Given the description of an element on the screen output the (x, y) to click on. 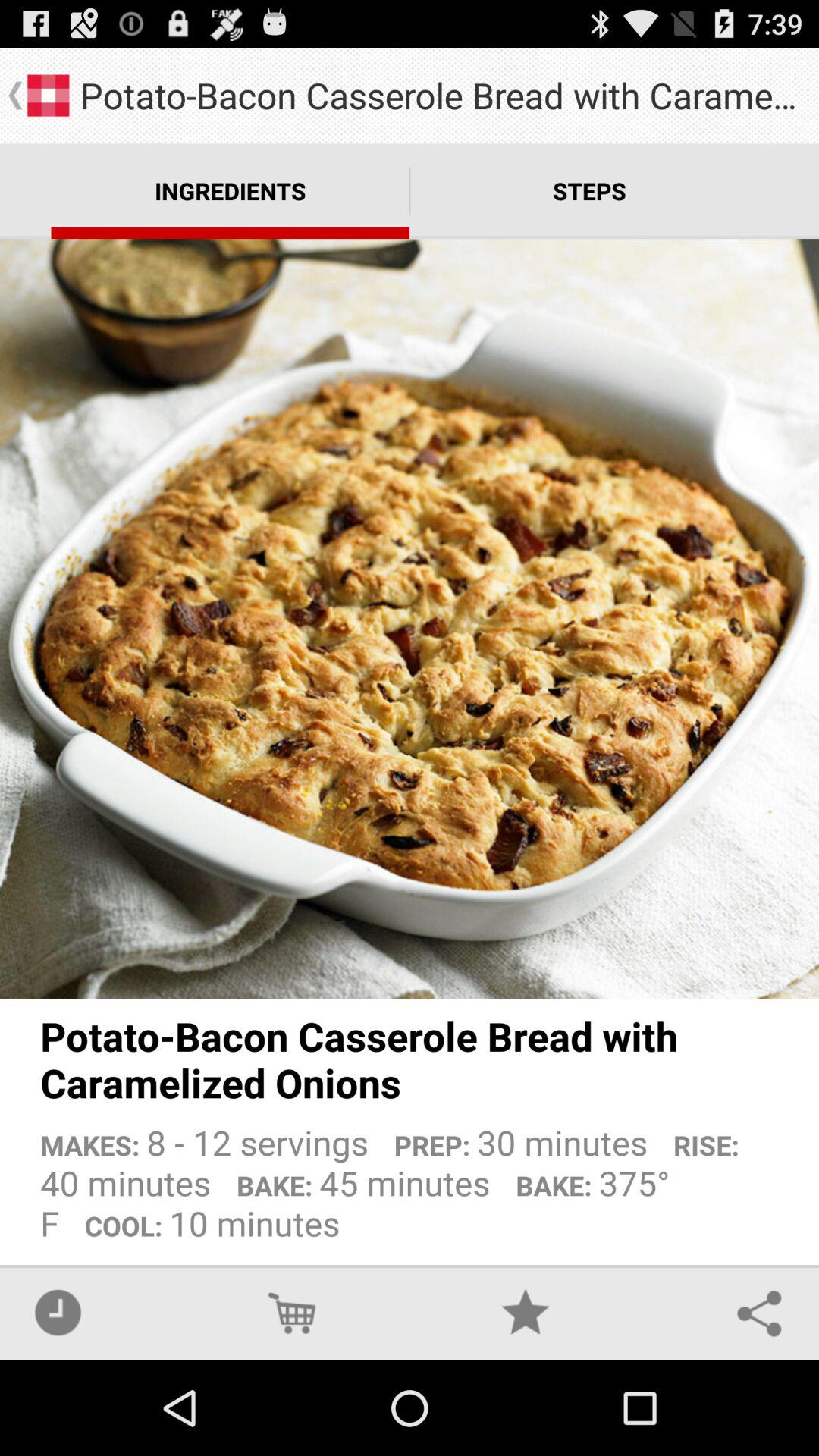
press the app below the makes 8 12 item (291, 1312)
